Given the description of an element on the screen output the (x, y) to click on. 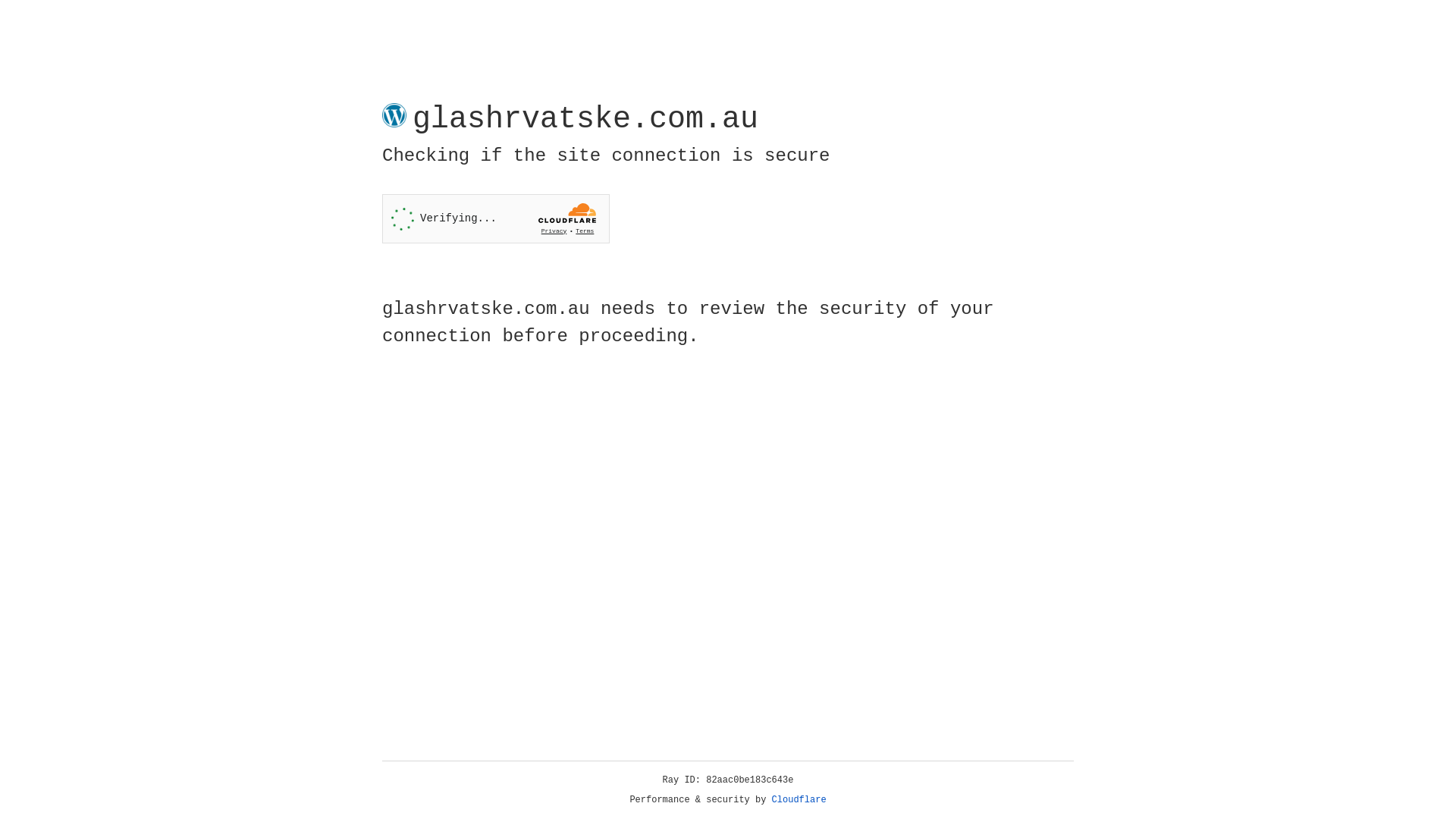
Cloudflare Element type: text (798, 799)
Widget containing a Cloudflare security challenge Element type: hover (495, 218)
